Given the description of an element on the screen output the (x, y) to click on. 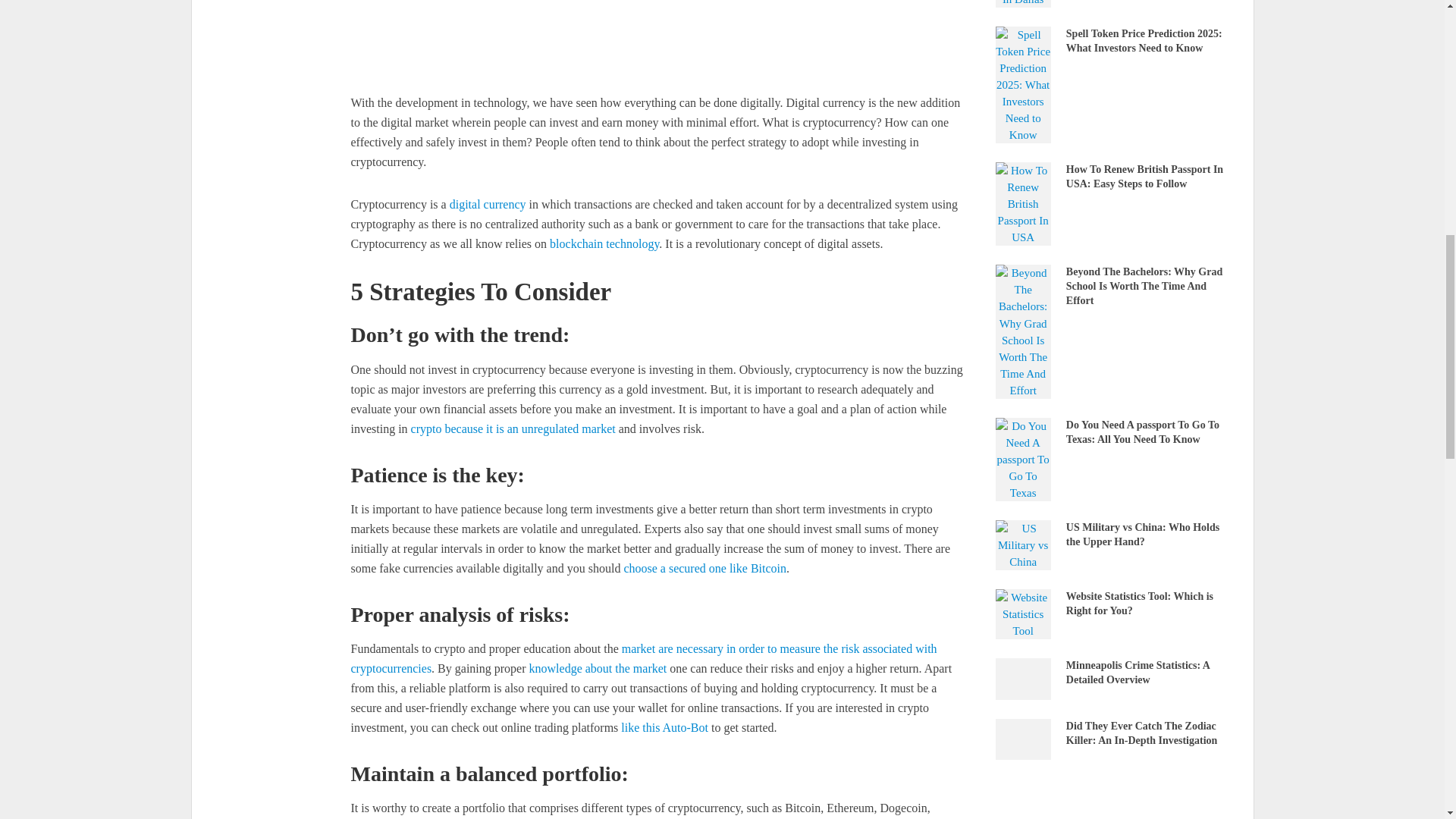
How To Renew British Passport In USA: Easy Steps to Follow (1021, 203)
Website Statistics Tool: Which is Right for You? (1021, 613)
US Military vs China: Who Holds the Upper Hand? (1021, 544)
Do You Need A passport To Go To Texas: All You Need To Know (1021, 458)
